Given the description of an element on the screen output the (x, y) to click on. 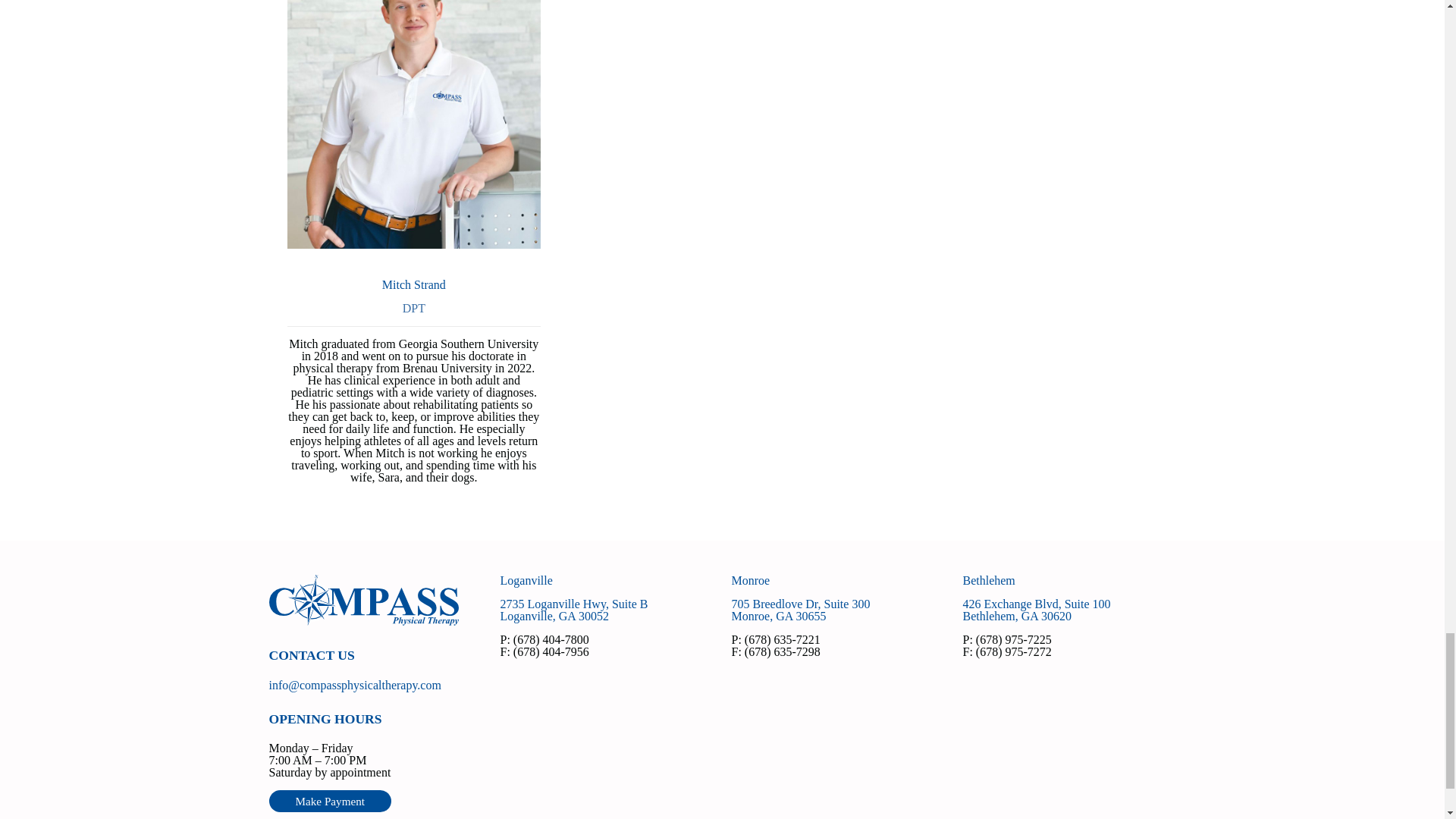
Make Payment (1036, 609)
